Given the description of an element on the screen output the (x, y) to click on. 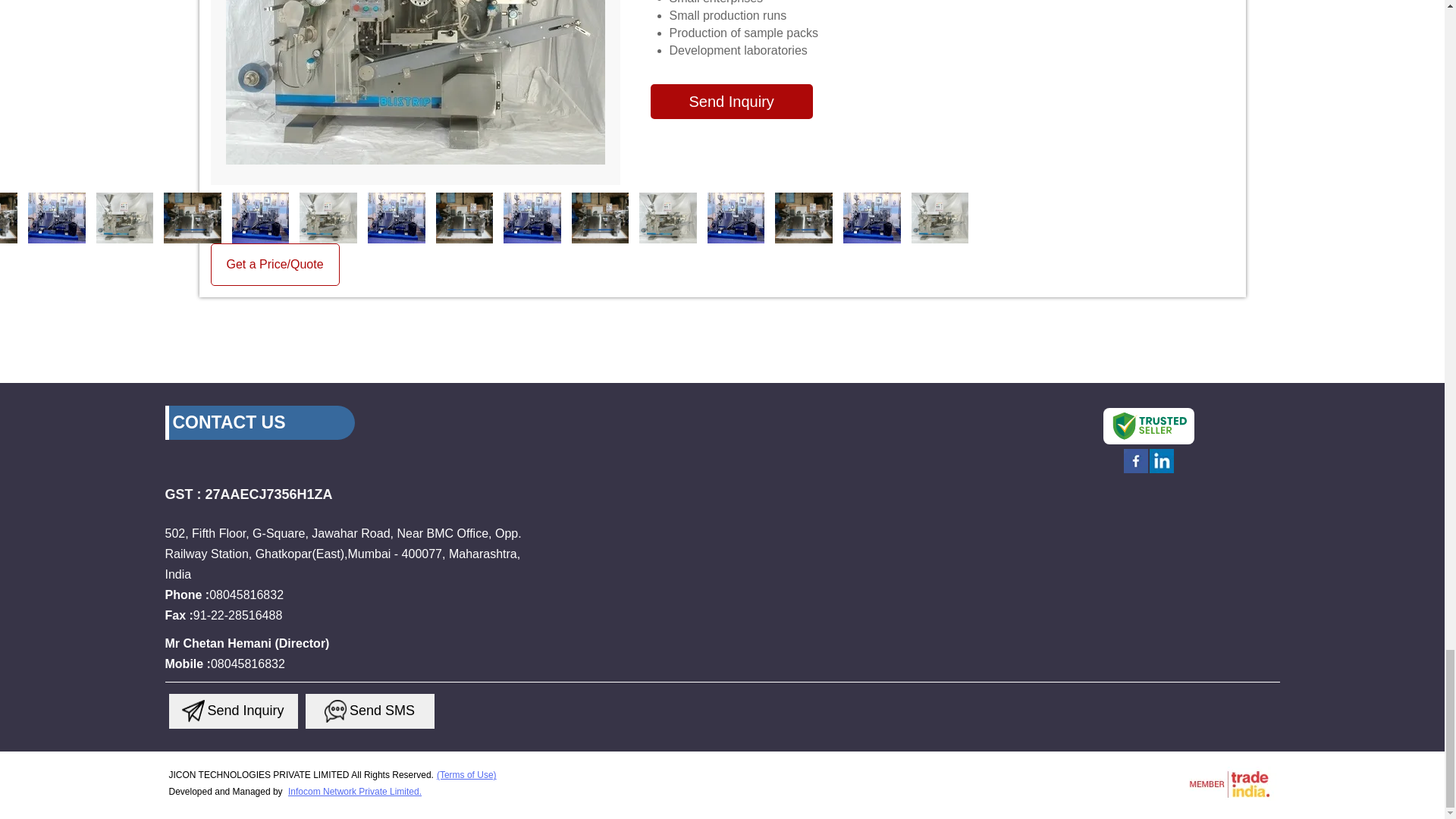
Send Inquiry (335, 711)
Send Inquiry (193, 711)
LinkedIn (1161, 471)
Facebook (1136, 471)
